Given the description of an element on the screen output the (x, y) to click on. 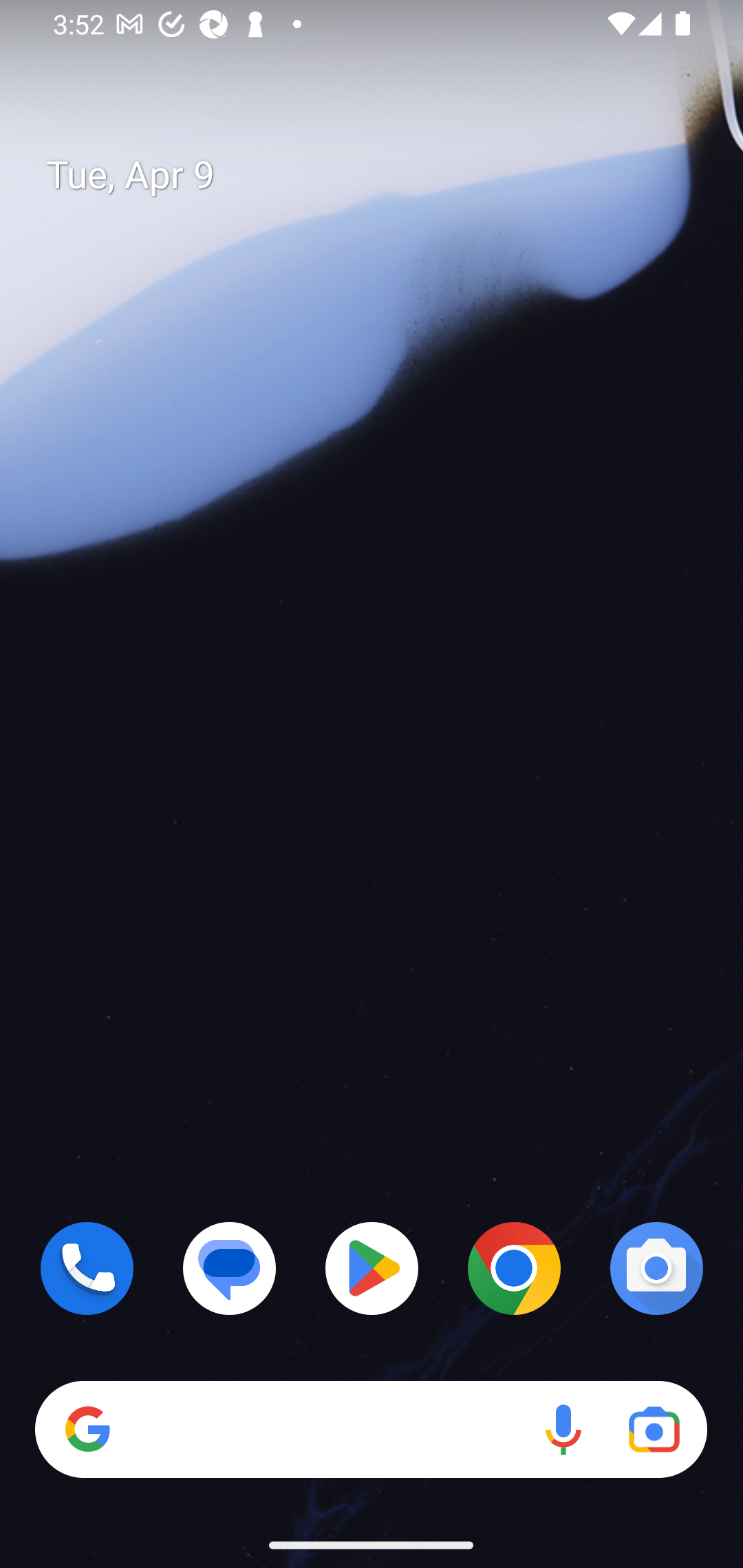
Tue, Apr 9 (386, 175)
Phone (86, 1268)
Messages (229, 1268)
Play Store (371, 1268)
Chrome (513, 1268)
Camera (656, 1268)
Search Voice search Google Lens (370, 1429)
Voice search (562, 1429)
Google Lens (653, 1429)
